Given the description of an element on the screen output the (x, y) to click on. 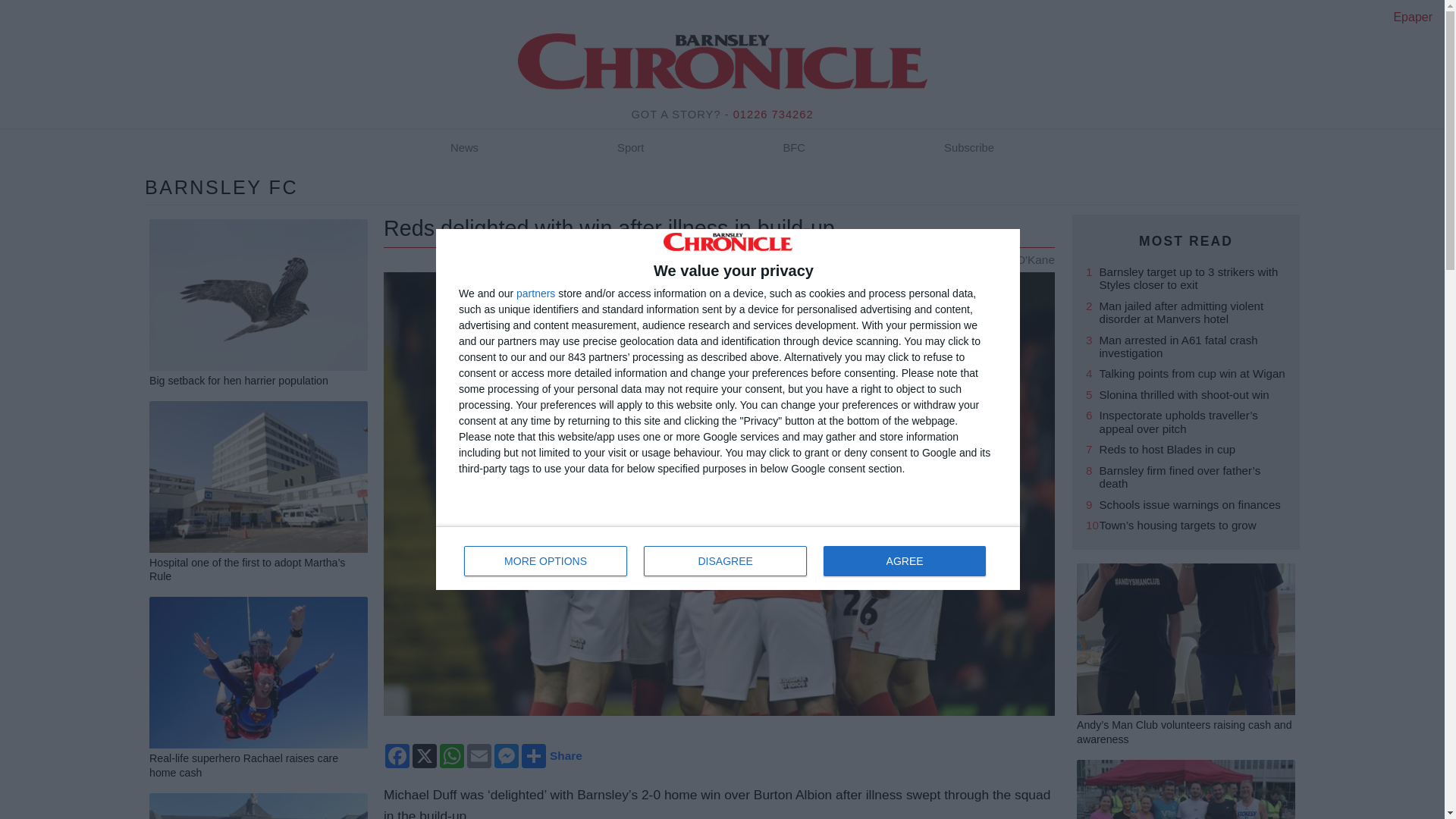
News (727, 557)
DISAGREE (464, 148)
partners (724, 561)
Sport (535, 293)
BFC (630, 148)
MORE OPTIONS (793, 148)
01226 734262 (545, 561)
Subscribe (773, 114)
Epaper (968, 148)
